Given the description of an element on the screen output the (x, y) to click on. 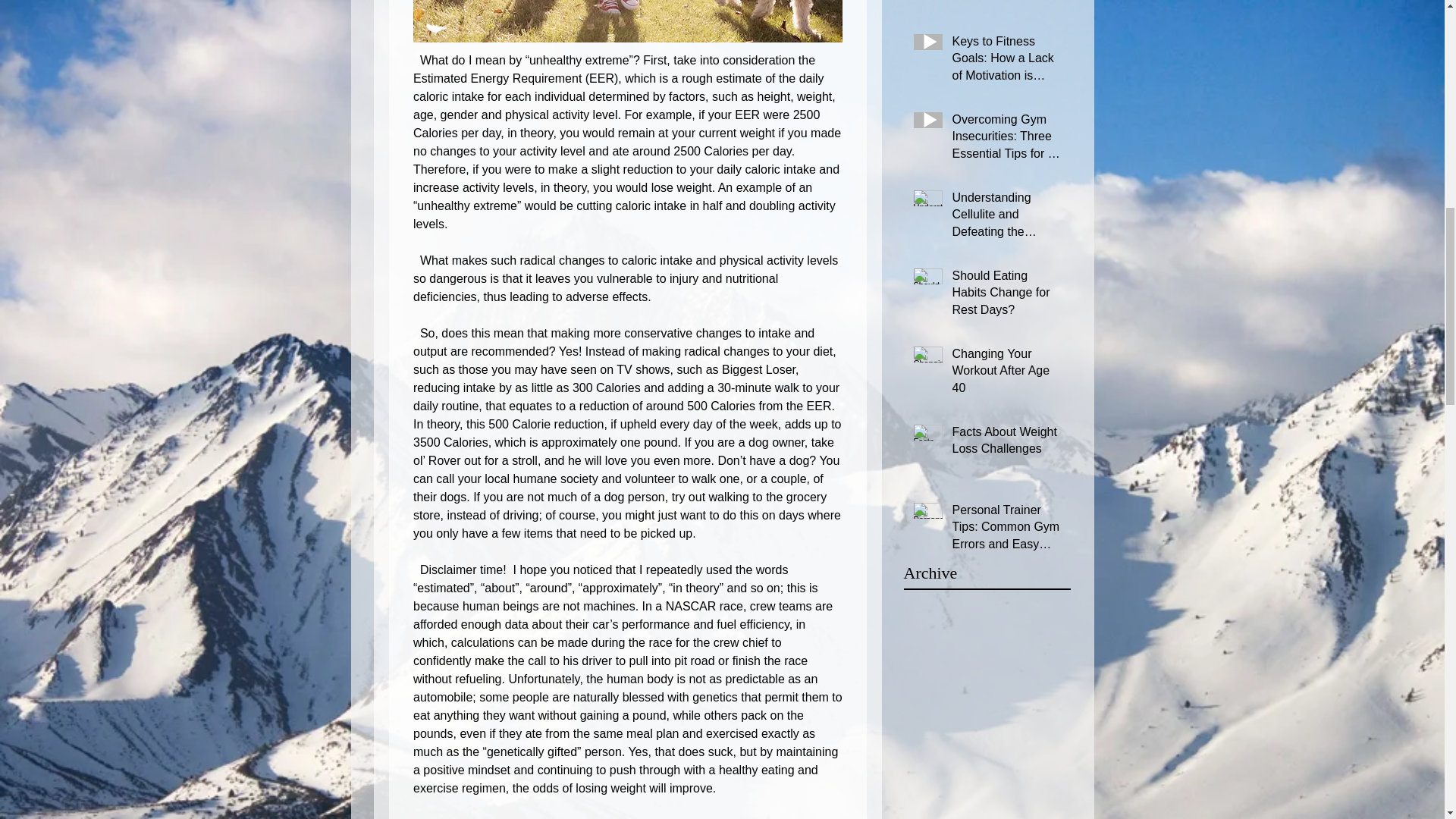
Boost Your Confidence and Reach Your Fitness Goals (1006, 5)
Understanding Cellulite and Defeating the Stigma (1006, 217)
